Given the description of an element on the screen output the (x, y) to click on. 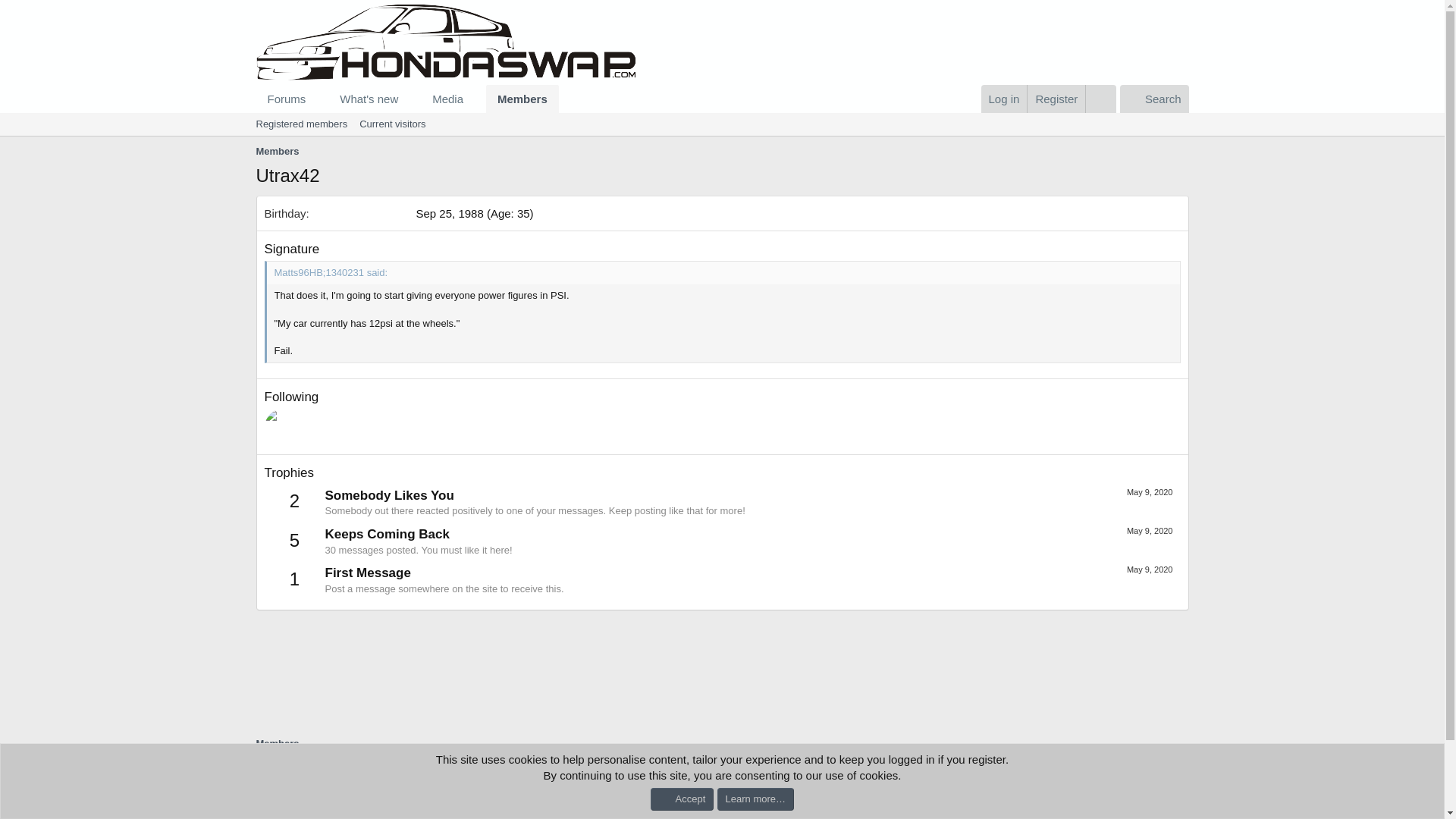
Log in (1004, 99)
RSS (1180, 776)
May 9, 2020 at 7:50 PM (1149, 530)
What's new (1099, 99)
Search (407, 99)
Current visitors (1154, 99)
Forums (391, 124)
May 9, 2020 at 7:50 PM (281, 99)
